Given the description of an element on the screen output the (x, y) to click on. 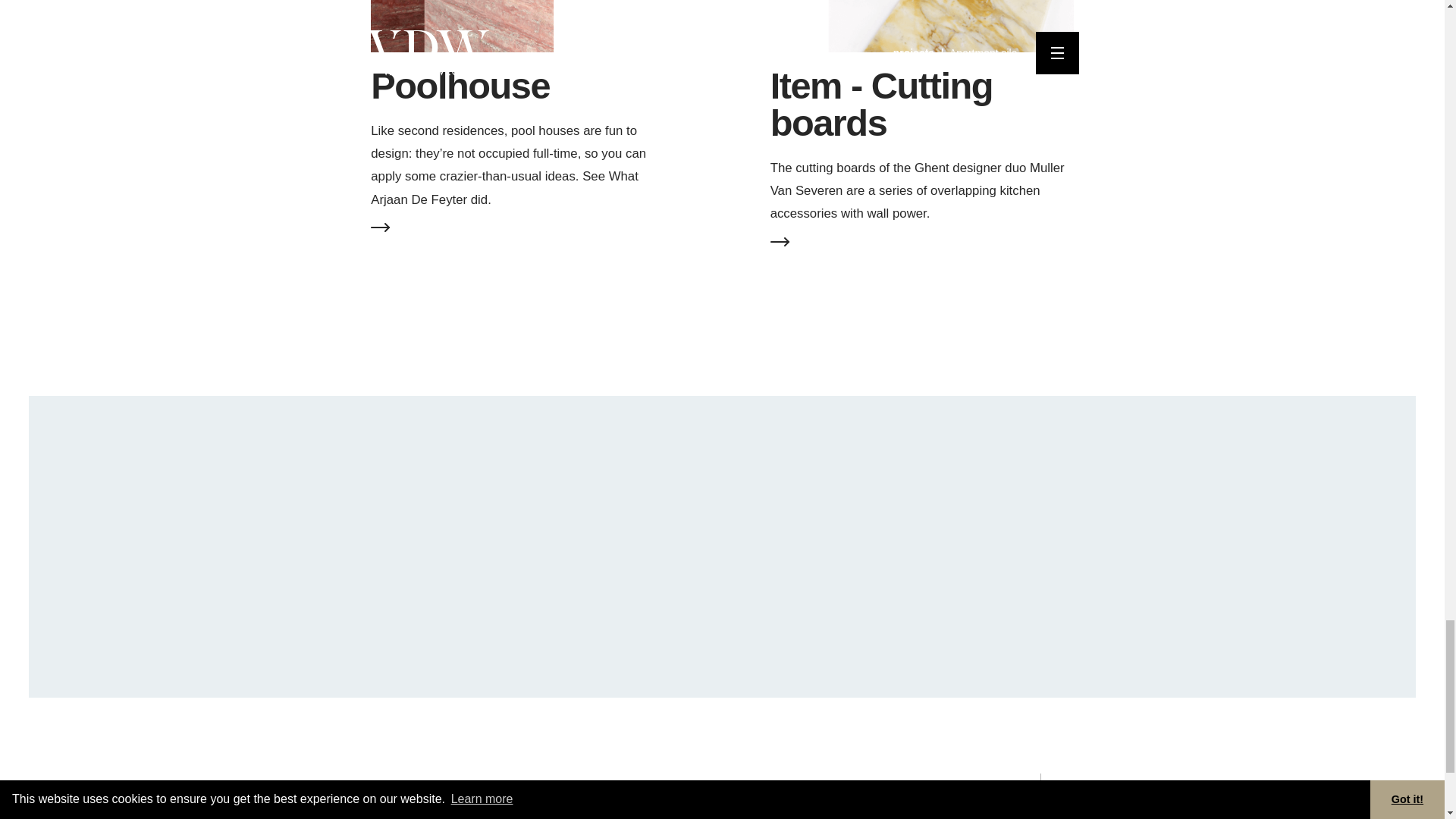
Subscribe (955, 633)
Statiestraat 69, B-9870 Zulte (944, 795)
